Given the description of an element on the screen output the (x, y) to click on. 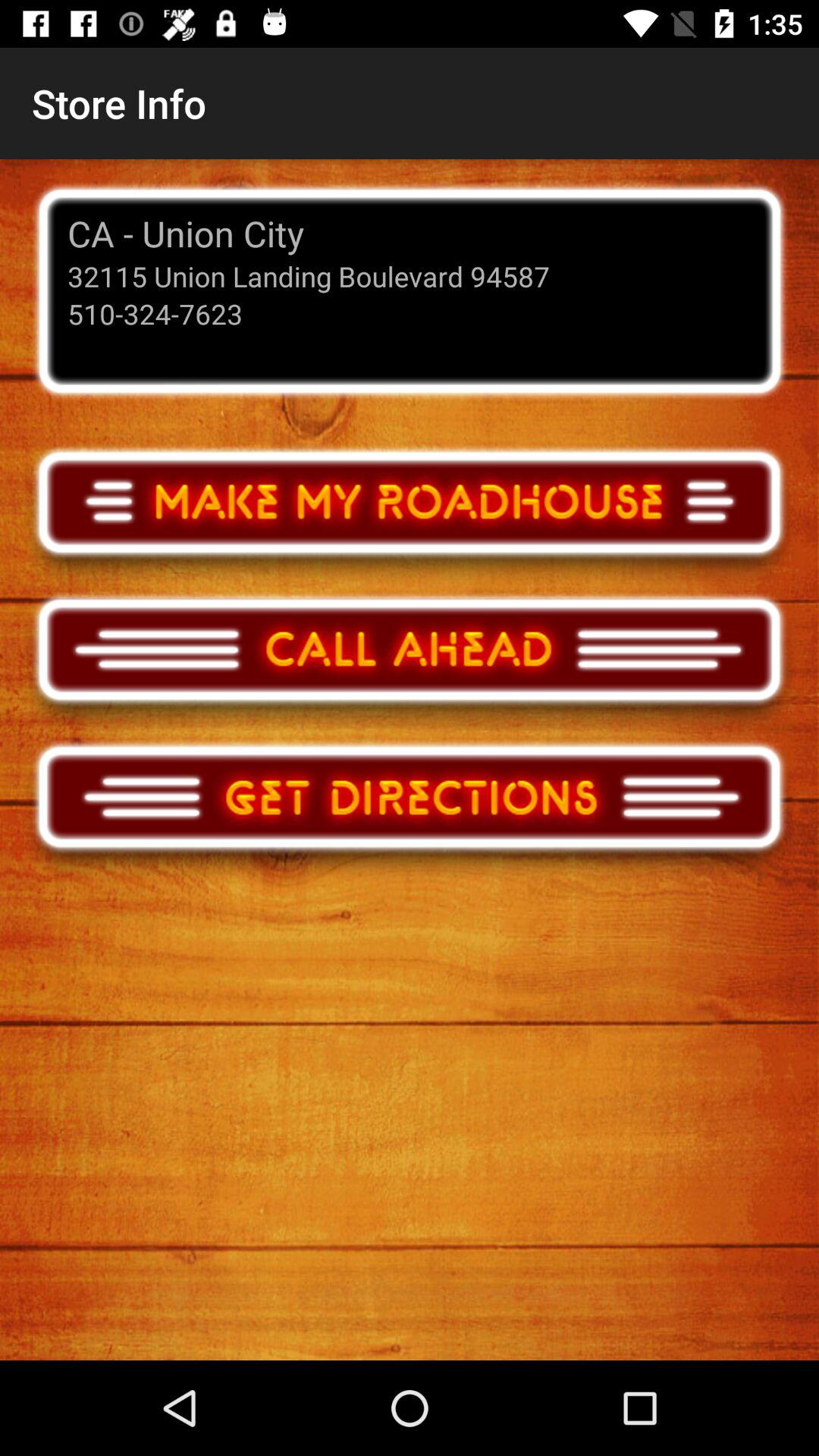
order food (409, 516)
